Given the description of an element on the screen output the (x, y) to click on. 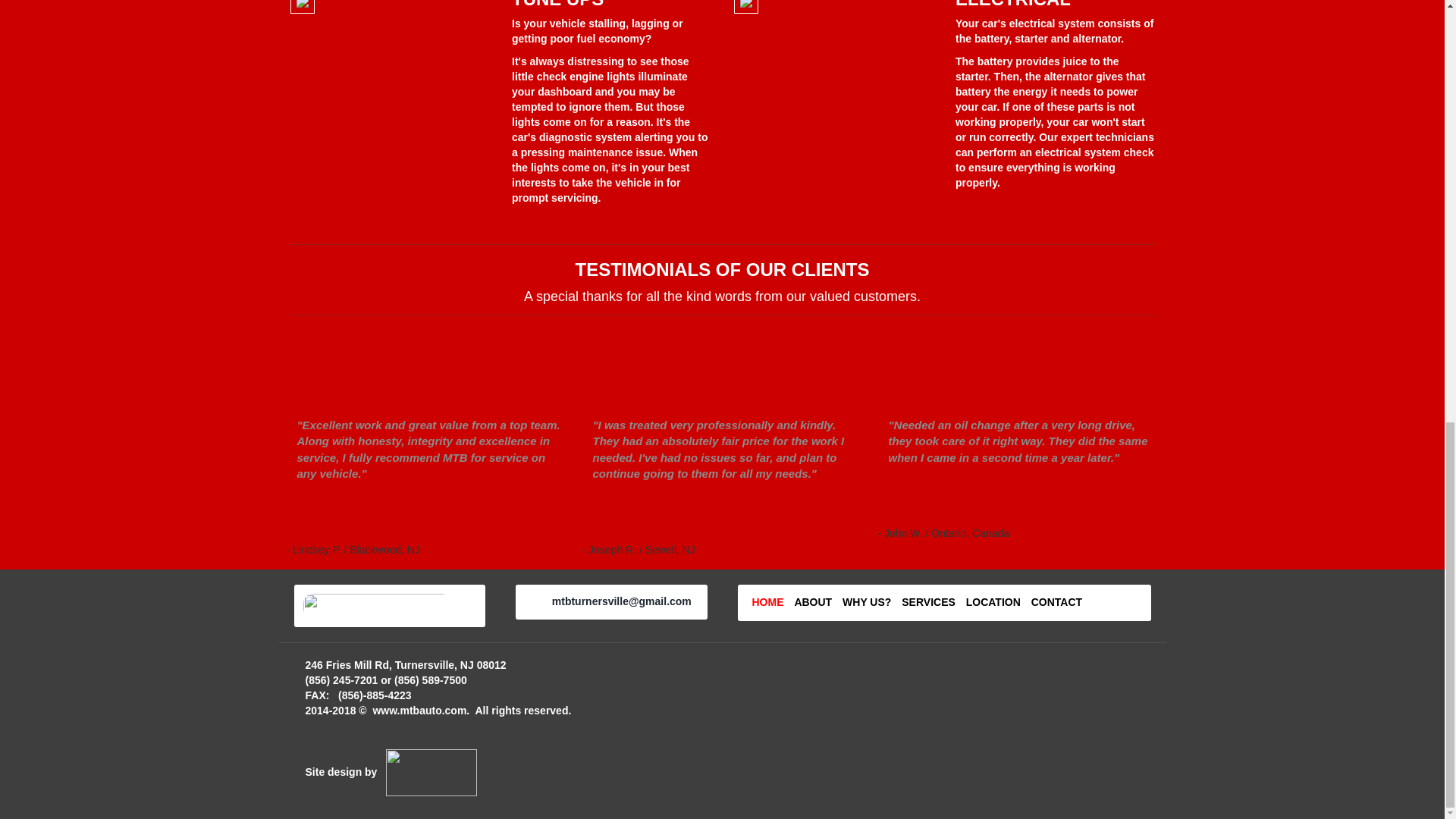
HOME (768, 602)
SERVICES (928, 602)
WHY US? (867, 602)
CONTACT (1055, 602)
ABOUT (812, 602)
LOCATION (993, 602)
